Given the description of an element on the screen output the (x, y) to click on. 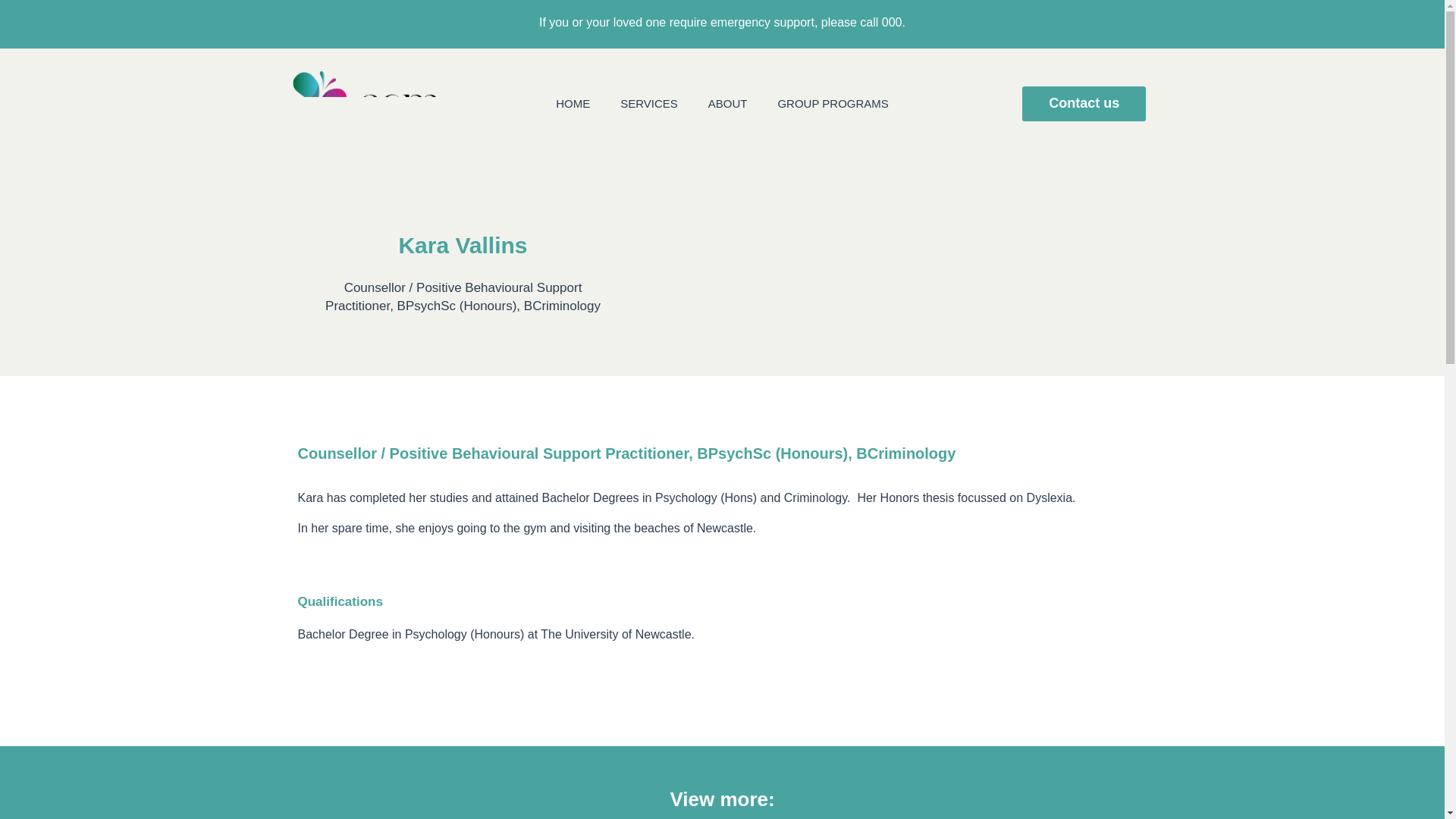
SERVICES (649, 103)
GROUP PROGRAMS (831, 103)
Contact us (1083, 103)
ABOUT (727, 103)
HOME (572, 103)
